Given the description of an element on the screen output the (x, y) to click on. 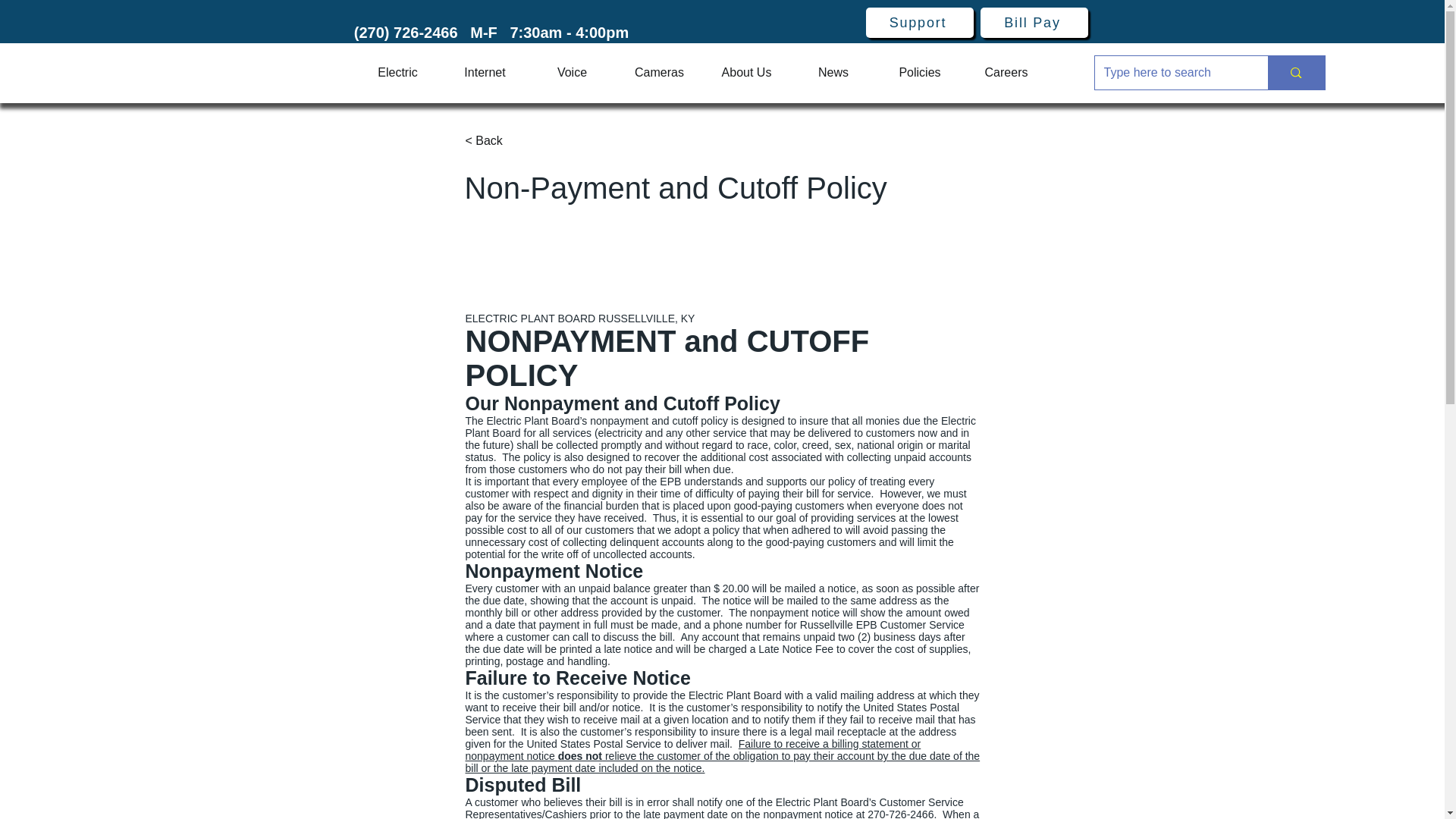
Support (920, 22)
Careers (1004, 72)
News (833, 72)
Policies (918, 72)
Bill Pay (1033, 22)
